Given the description of an element on the screen output the (x, y) to click on. 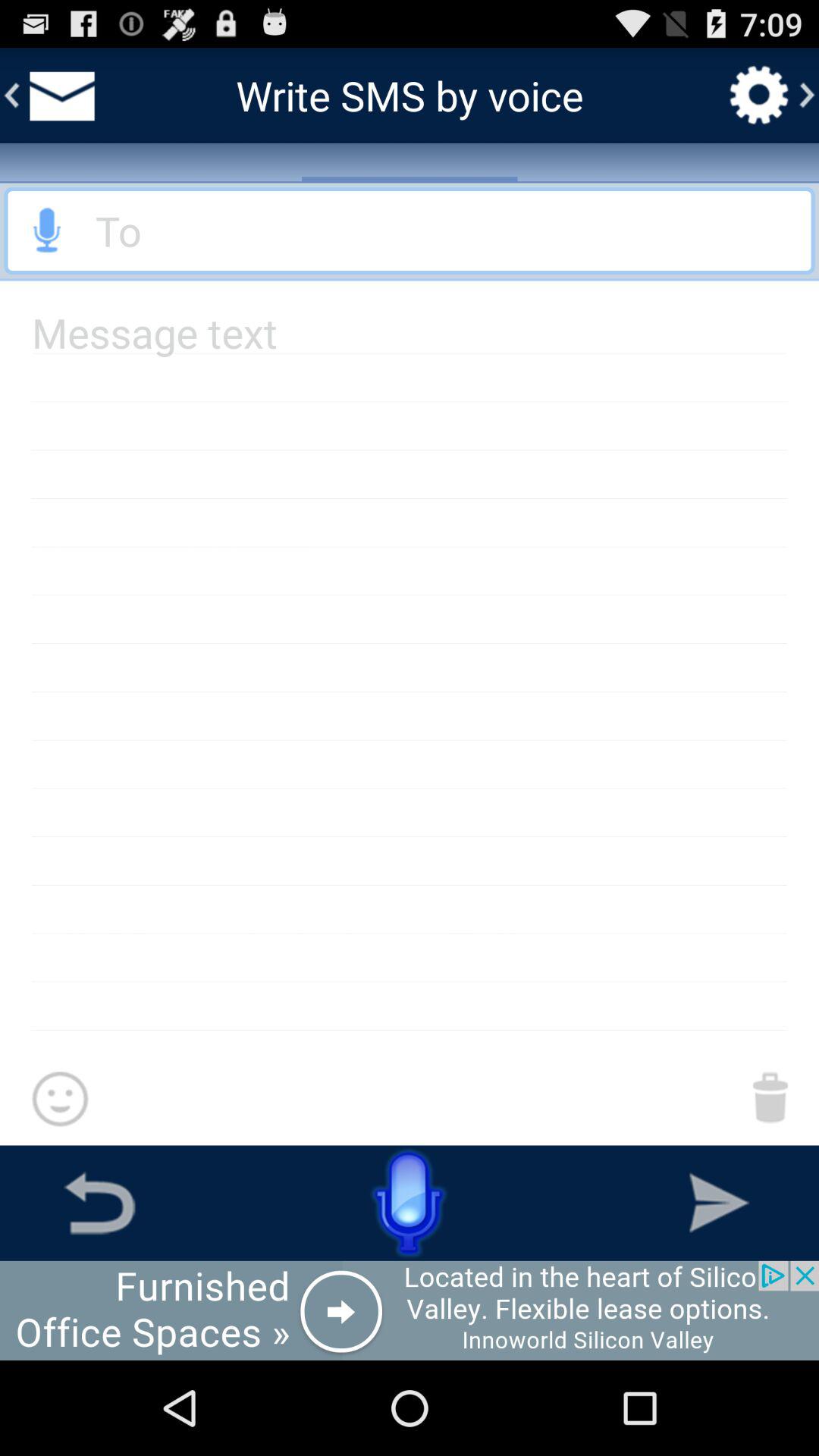
add recipient by voice (47, 230)
